Given the description of an element on the screen output the (x, y) to click on. 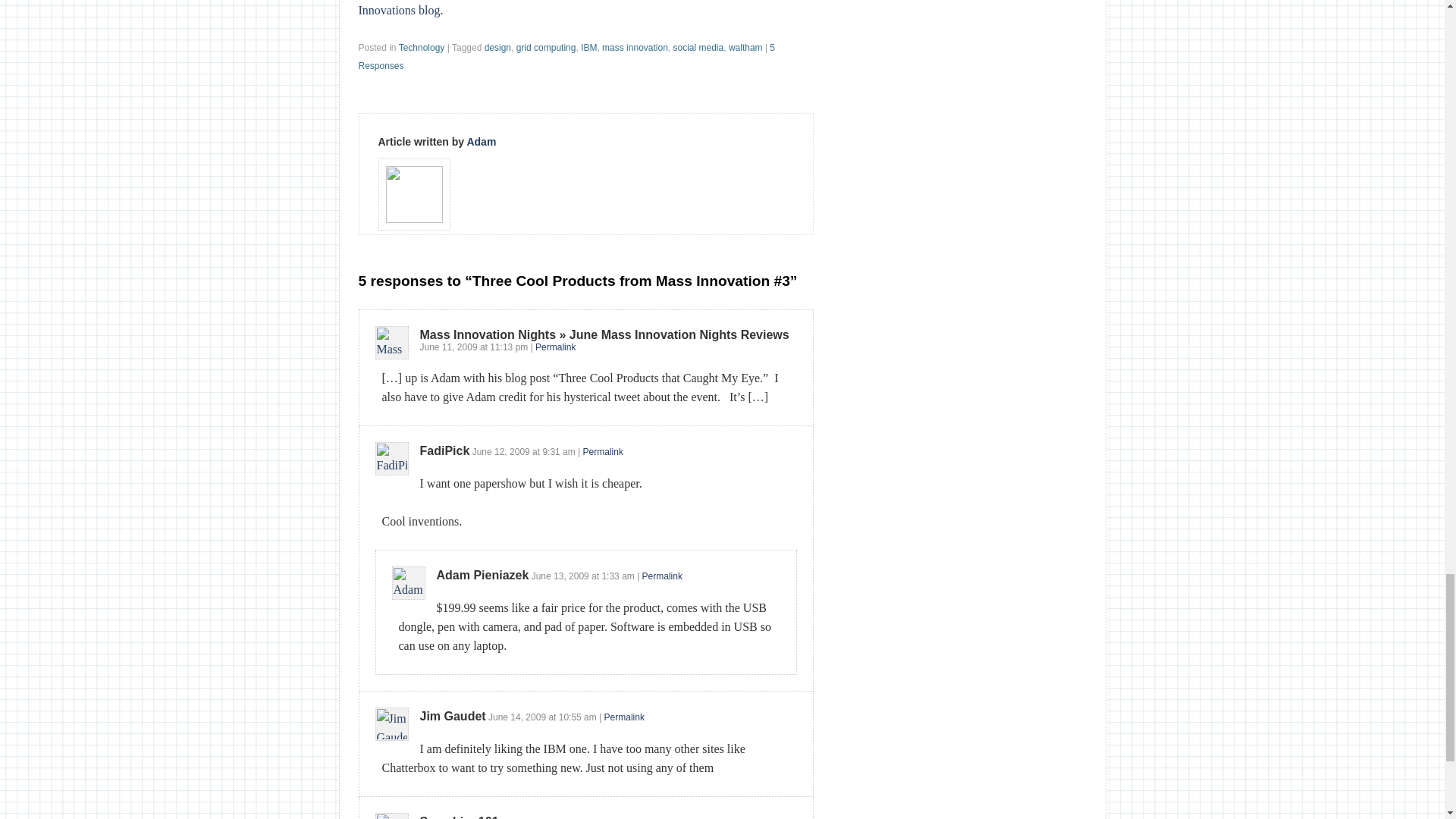
mass innovation (635, 47)
design (497, 47)
wrap-up post from the Mass Innovations blog (569, 8)
Adam Pieniazek (482, 574)
Permalink (662, 575)
Thursday, June 11th, 2009, 11:13 pm (508, 347)
FadiPick (445, 450)
Thursday, June 11th, 2009, 11:13 pm (448, 347)
Adam (480, 141)
Permalink (624, 716)
